Given the description of an element on the screen output the (x, y) to click on. 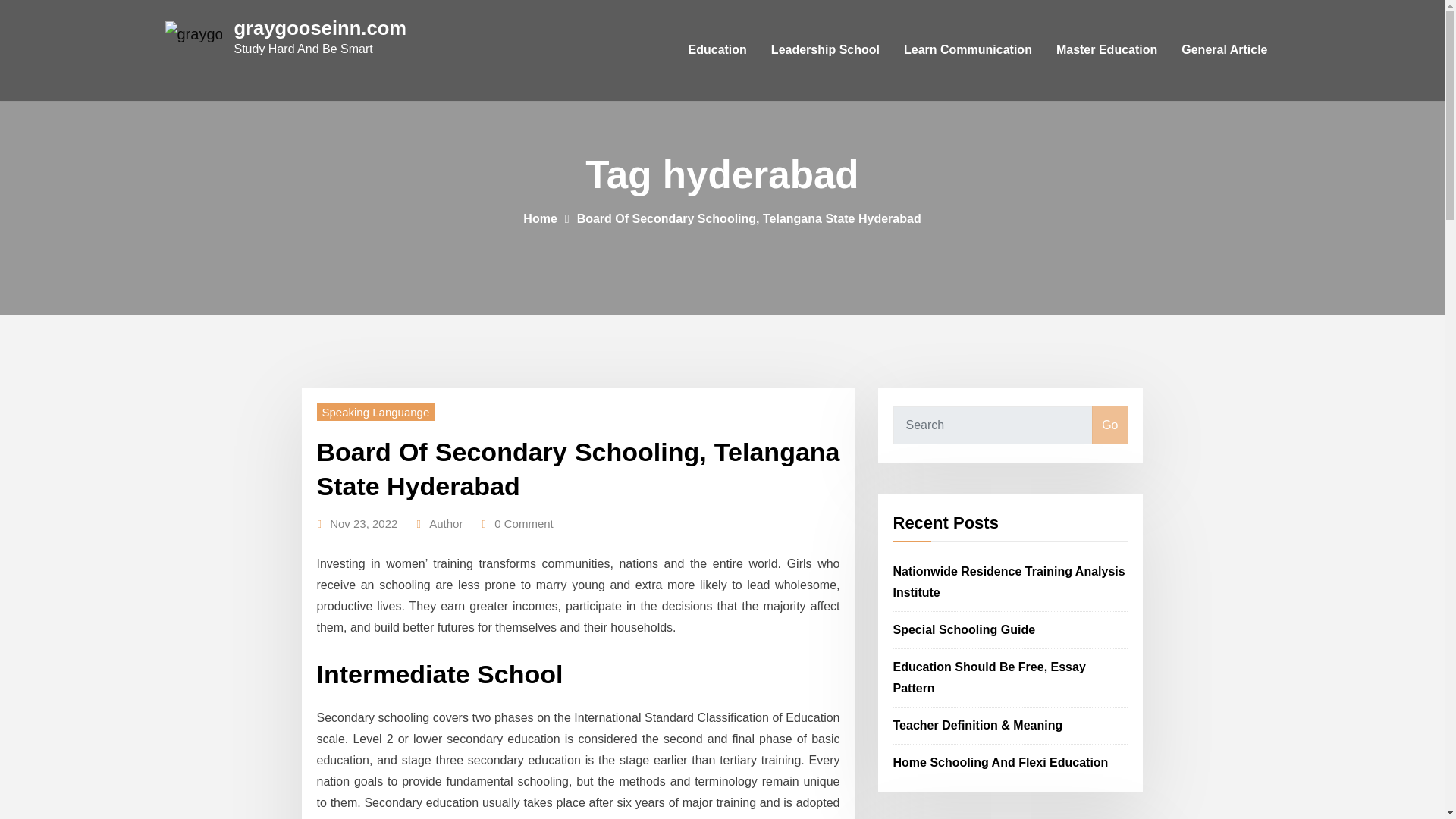
General Article (1224, 50)
graygooseinn.com (319, 27)
Board Of Secondary Schooling, Telangana State Hyderabad (748, 218)
Author (446, 523)
Board Of Secondary Schooling, Telangana State Hyderabad (578, 468)
Nov 23, 2022 (363, 523)
Special Schooling Guide (964, 629)
Home (539, 218)
Education (717, 50)
Leadership School (824, 50)
